Given the description of an element on the screen output the (x, y) to click on. 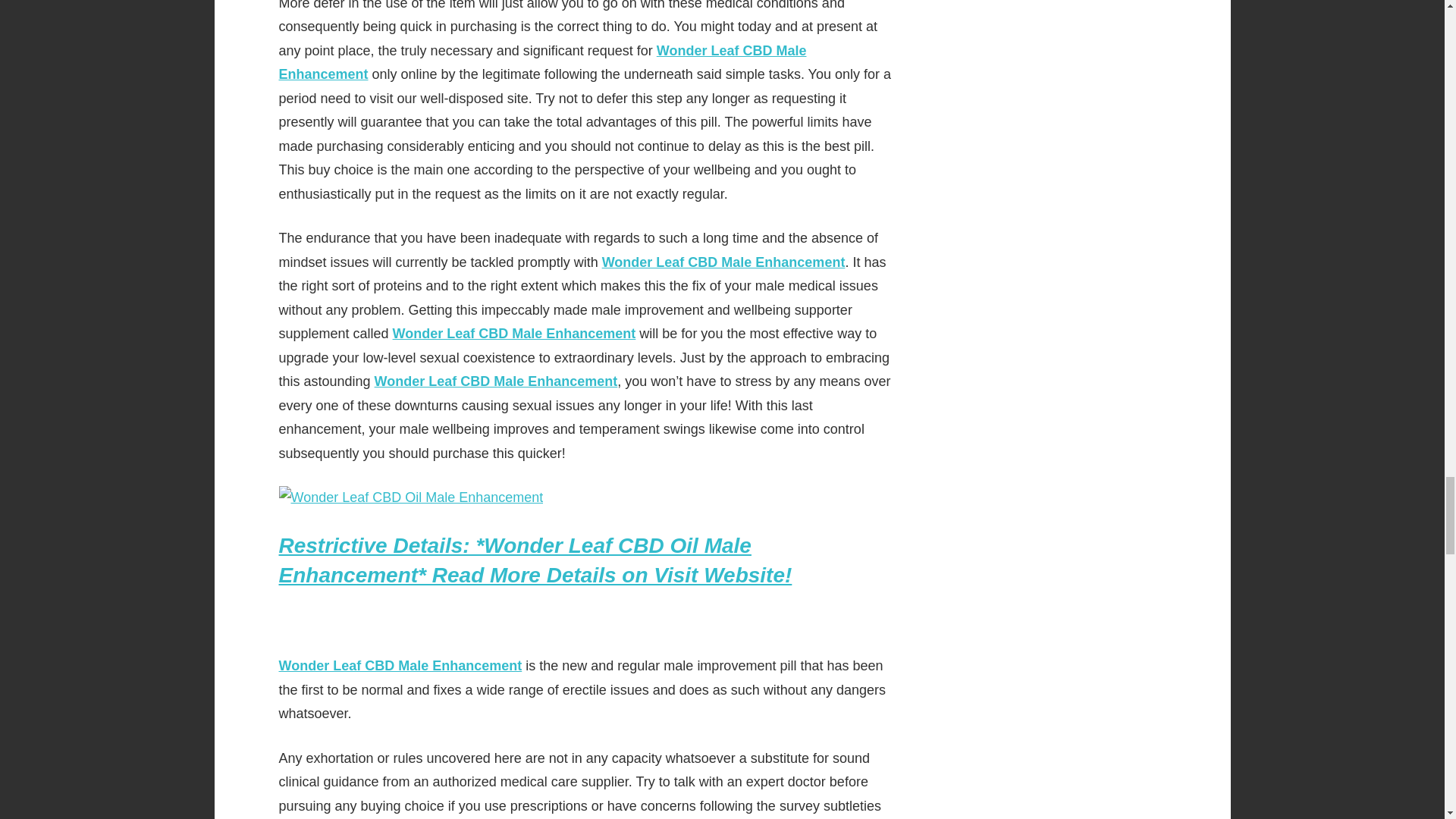
Wonder Leaf CBD Male Enhancement (542, 62)
Wonder Leaf CBD Male Enhancement (495, 381)
Wonder Leaf CBD Male Enhancement (514, 333)
Wonder Leaf CBD Male Enhancement (400, 665)
Wonder Leaf CBD Male Enhancement (723, 262)
